Given the description of an element on the screen output the (x, y) to click on. 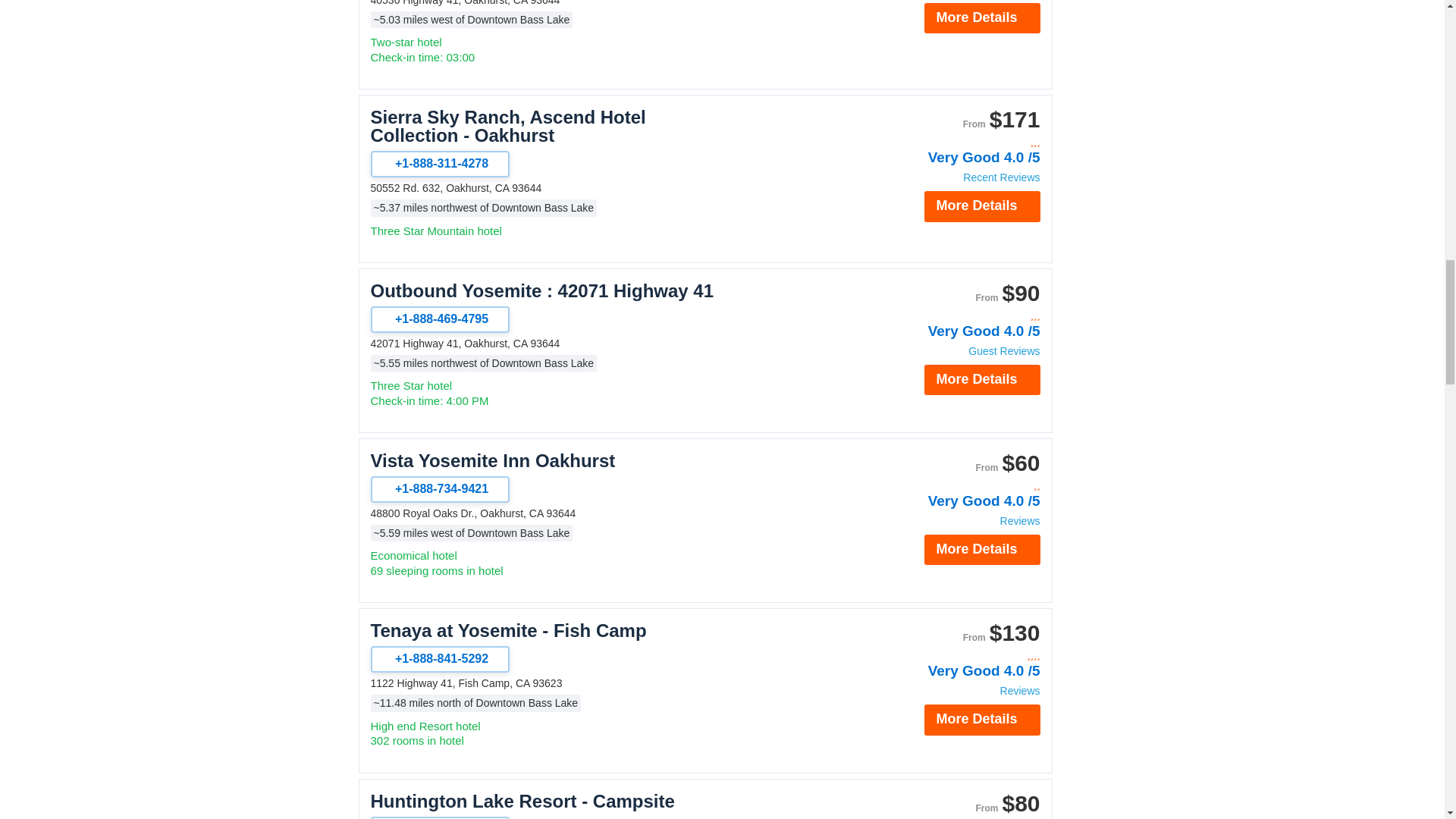
4 stars (958, 655)
3 stars (958, 141)
2 stars (958, 485)
3 stars (958, 315)
